Given the description of an element on the screen output the (x, y) to click on. 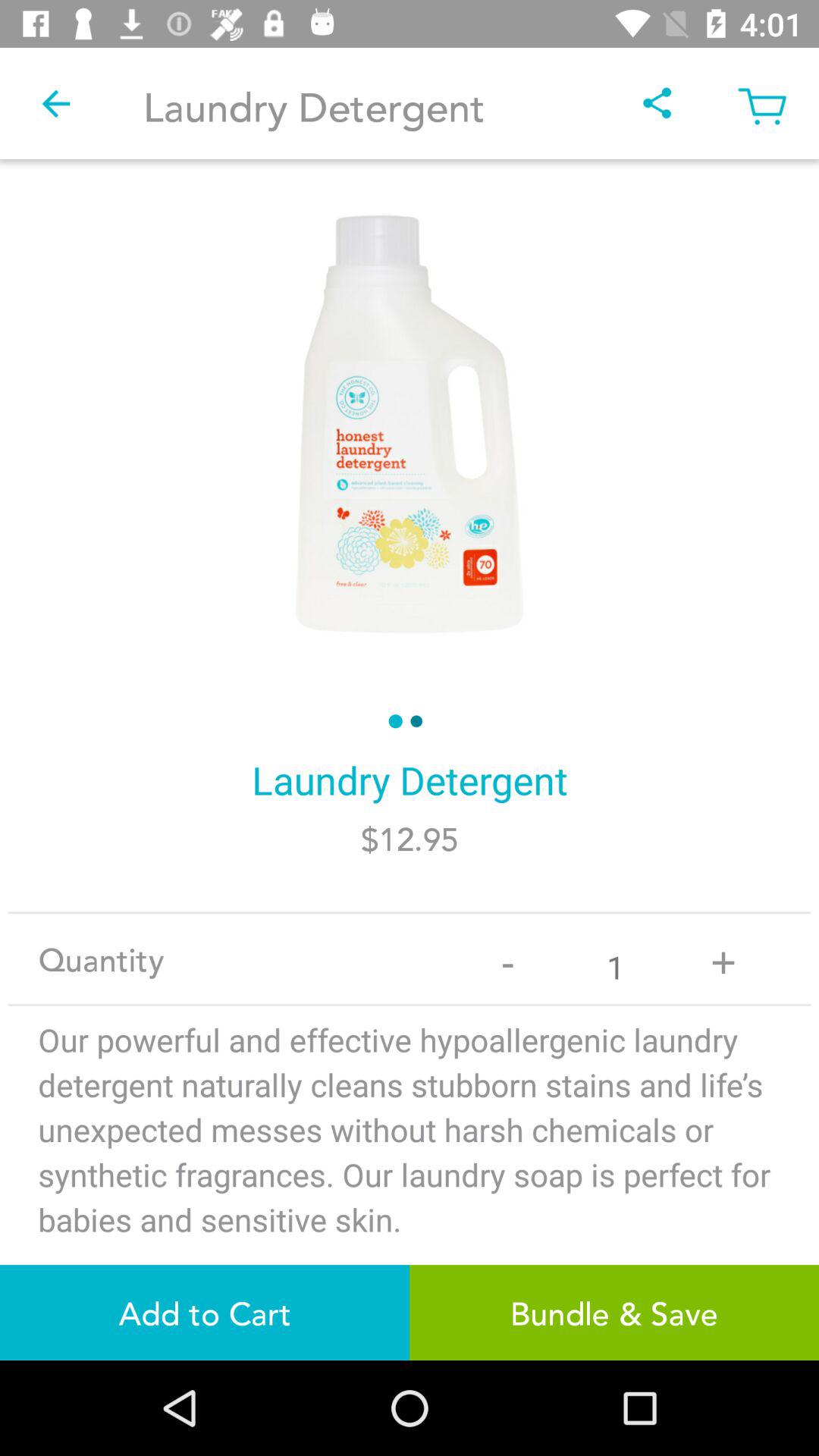
swipe to the - icon (507, 958)
